Given the description of an element on the screen output the (x, y) to click on. 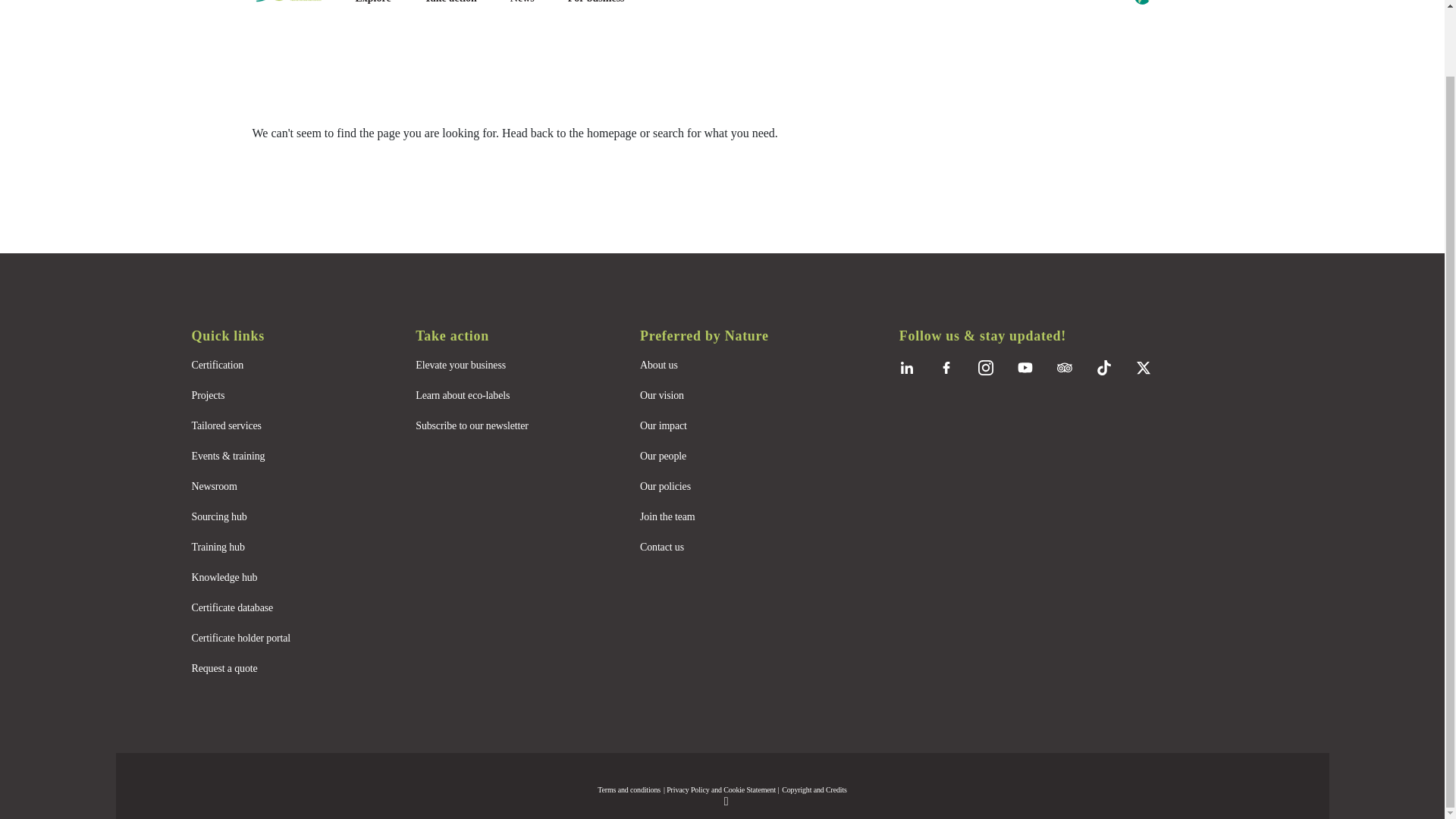
For Business (595, 2)
Home (296, 2)
